Given the description of an element on the screen output the (x, y) to click on. 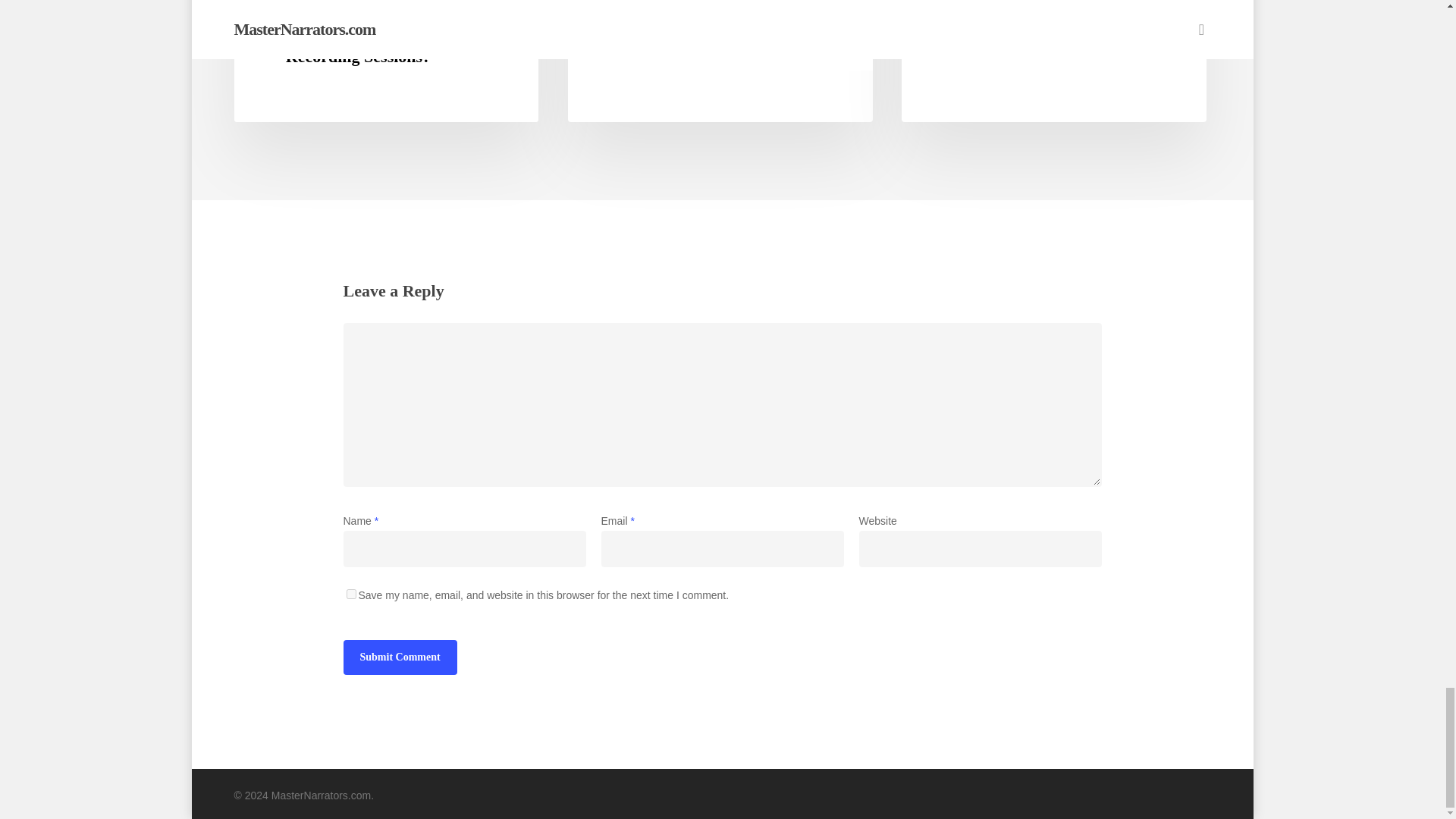
yes (350, 593)
Submit Comment (399, 656)
Submit Comment (399, 656)
